Given the description of an element on the screen output the (x, y) to click on. 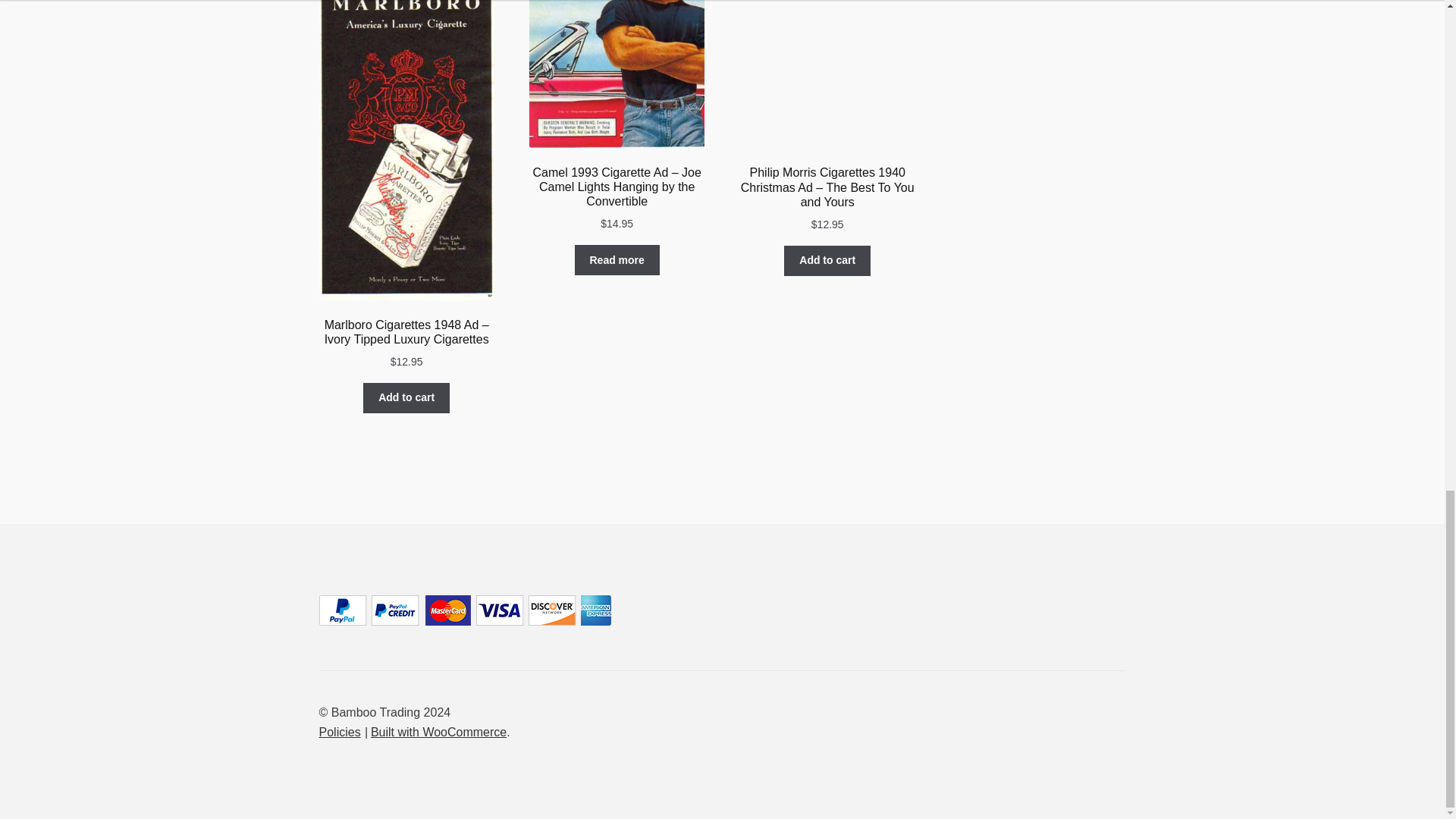
Add to cart (827, 260)
Read more (617, 259)
Add to cart (405, 398)
WooCommerce - The Best eCommerce Platform for WordPress (438, 731)
